Given the description of an element on the screen output the (x, y) to click on. 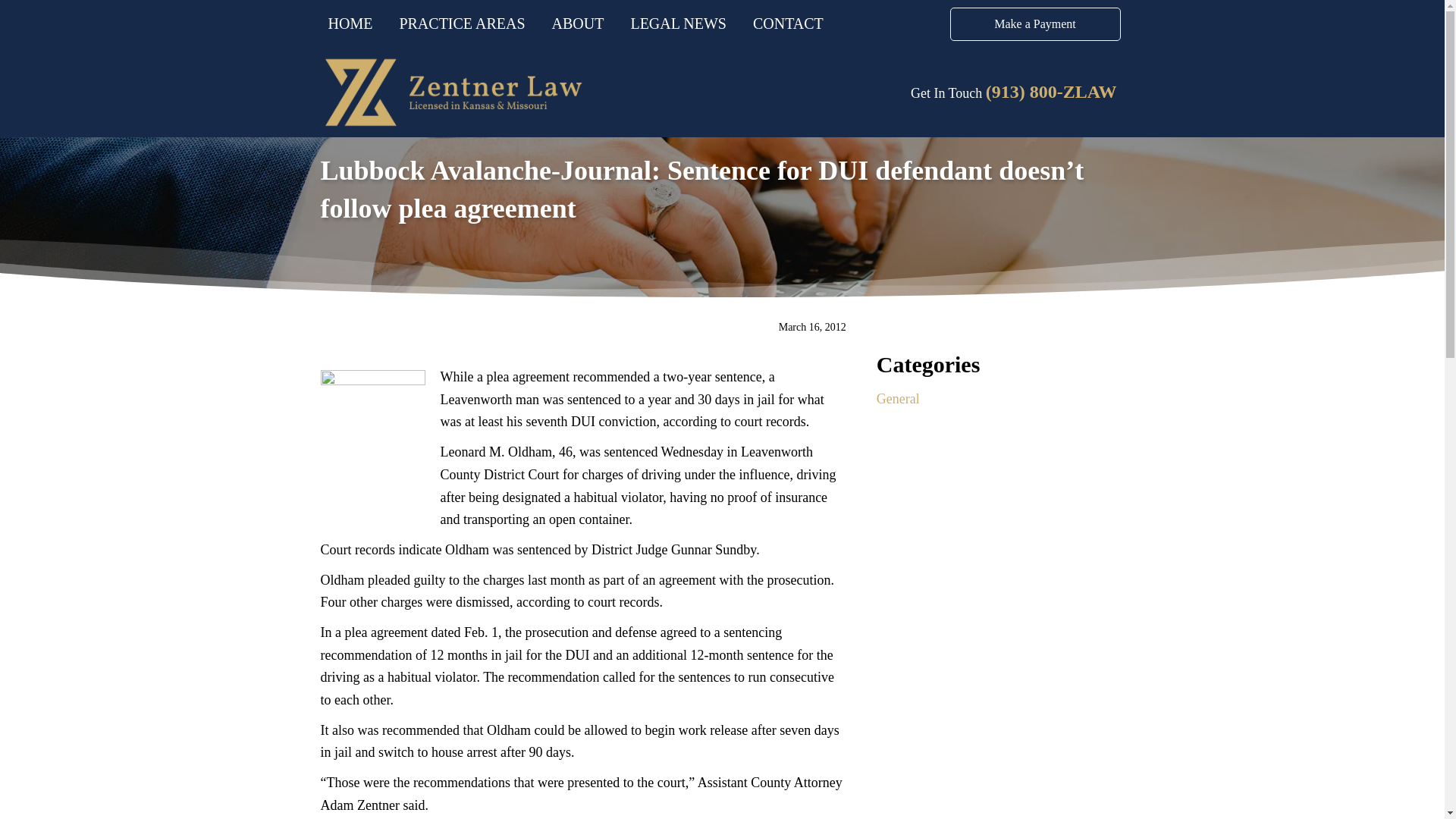
General (898, 398)
Make a Payment (1034, 23)
Zentner-Law-KS-MO (452, 92)
PRACTICE AREAS (461, 23)
CONTACT (788, 23)
ABOUT (577, 23)
LEGAL NEWS (678, 23)
HOME (350, 23)
